Given the description of an element on the screen output the (x, y) to click on. 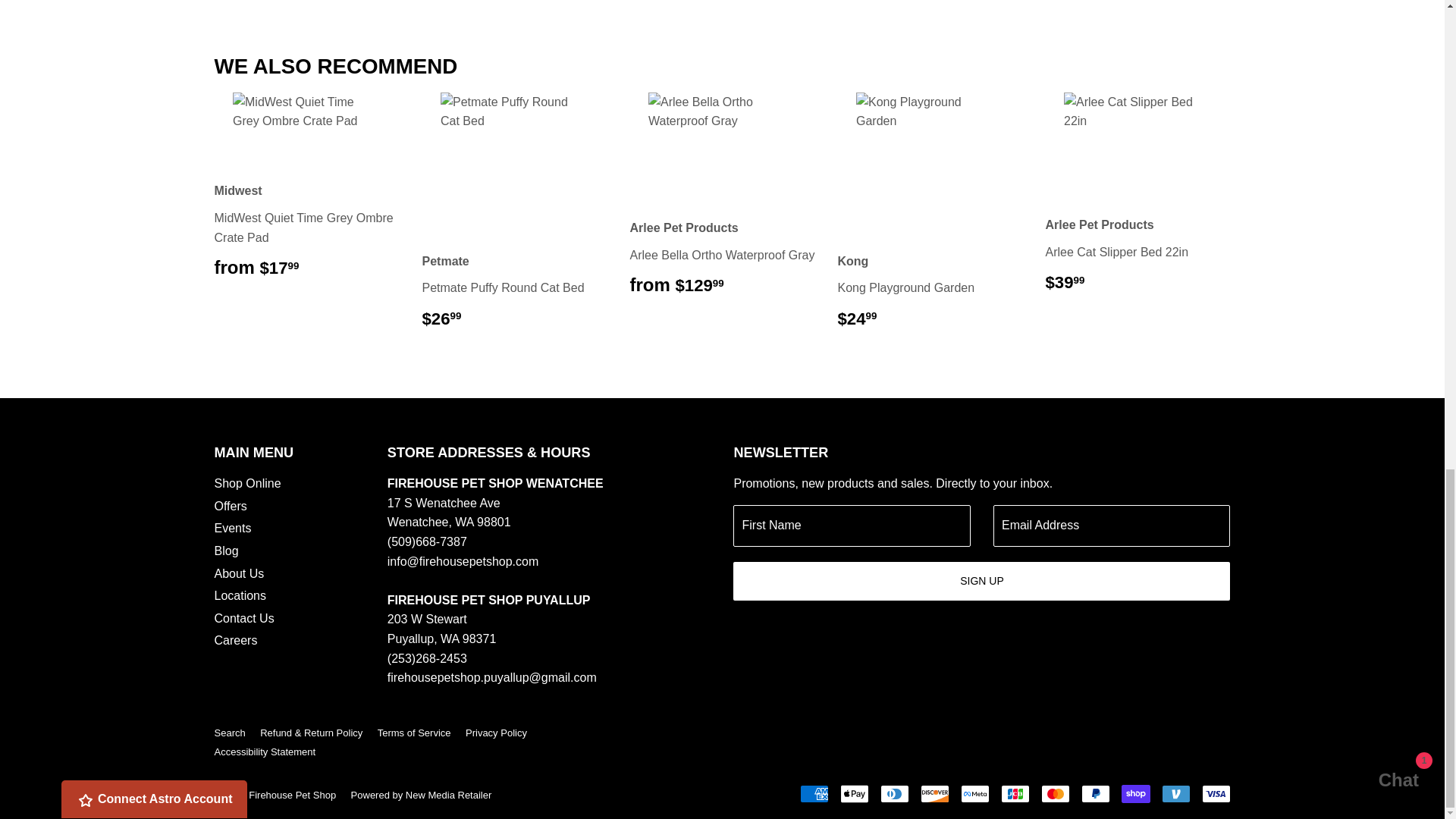
New Media Retailer (421, 794)
Visa (1215, 793)
Mastercard (1054, 793)
Apple Pay (854, 793)
American Express (813, 793)
Venmo (1176, 793)
Discover (934, 793)
PayPal (1095, 793)
Diners Club (893, 793)
Shop Pay (1135, 793)
Meta Pay (973, 793)
JCB (1015, 793)
